Given the description of an element on the screen output the (x, y) to click on. 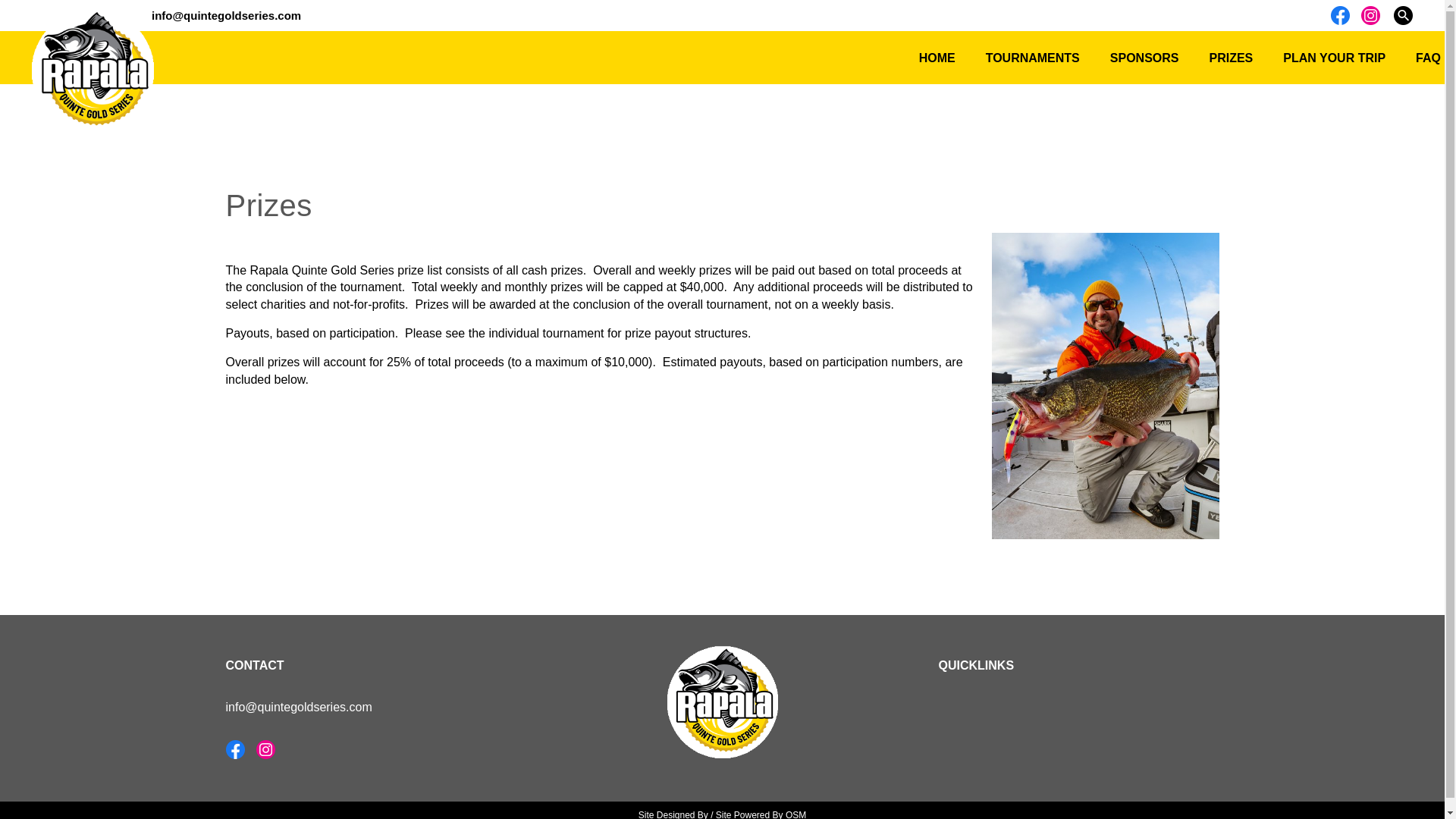
PLAN YOUR TRIP (1334, 57)
PRIZES (1230, 57)
SPONSORS (1143, 57)
HOME (937, 57)
TOURNAMENTS (1032, 57)
